Given the description of an element on the screen output the (x, y) to click on. 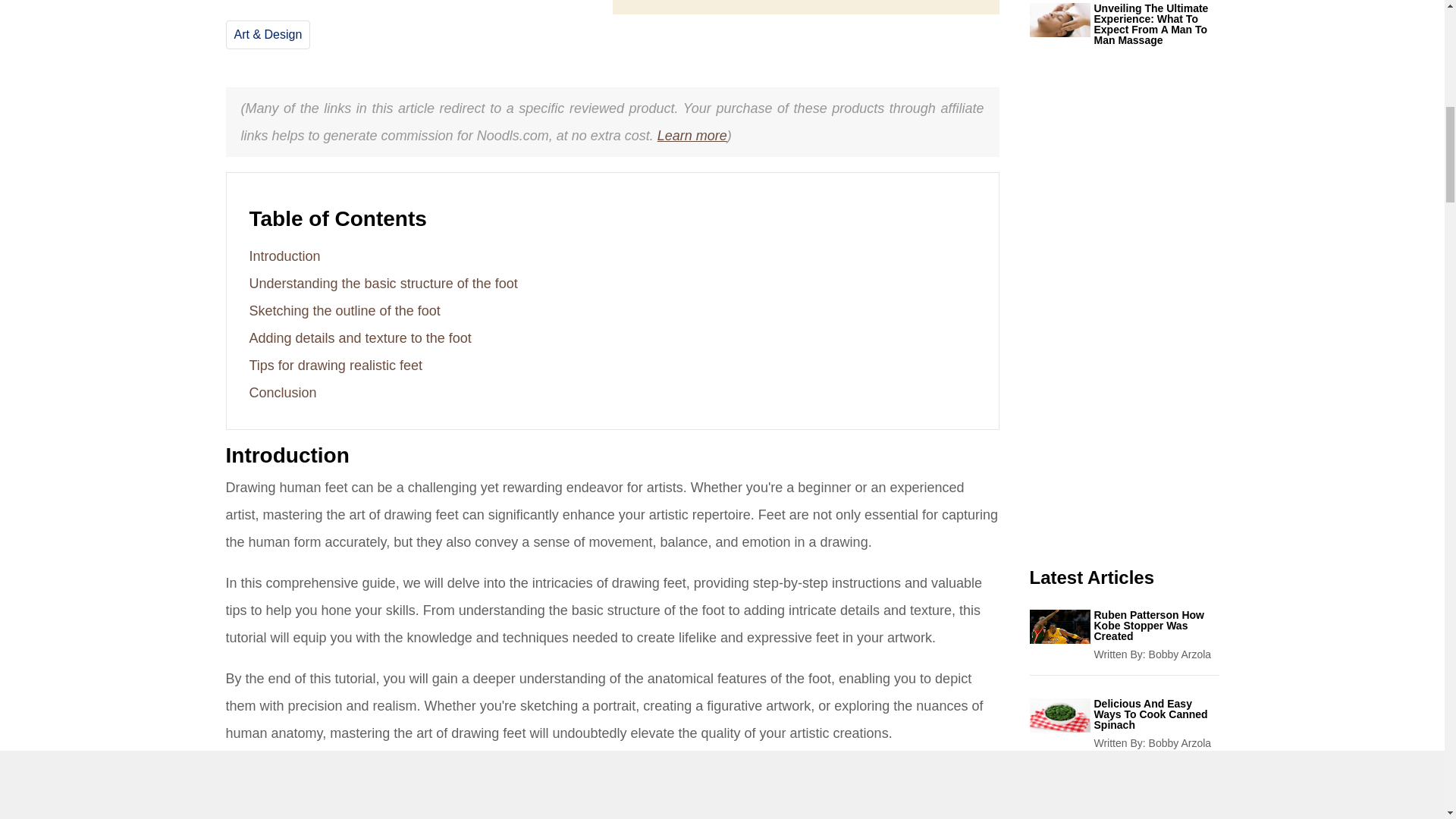
Advertisement (1124, 324)
